Given the description of an element on the screen output the (x, y) to click on. 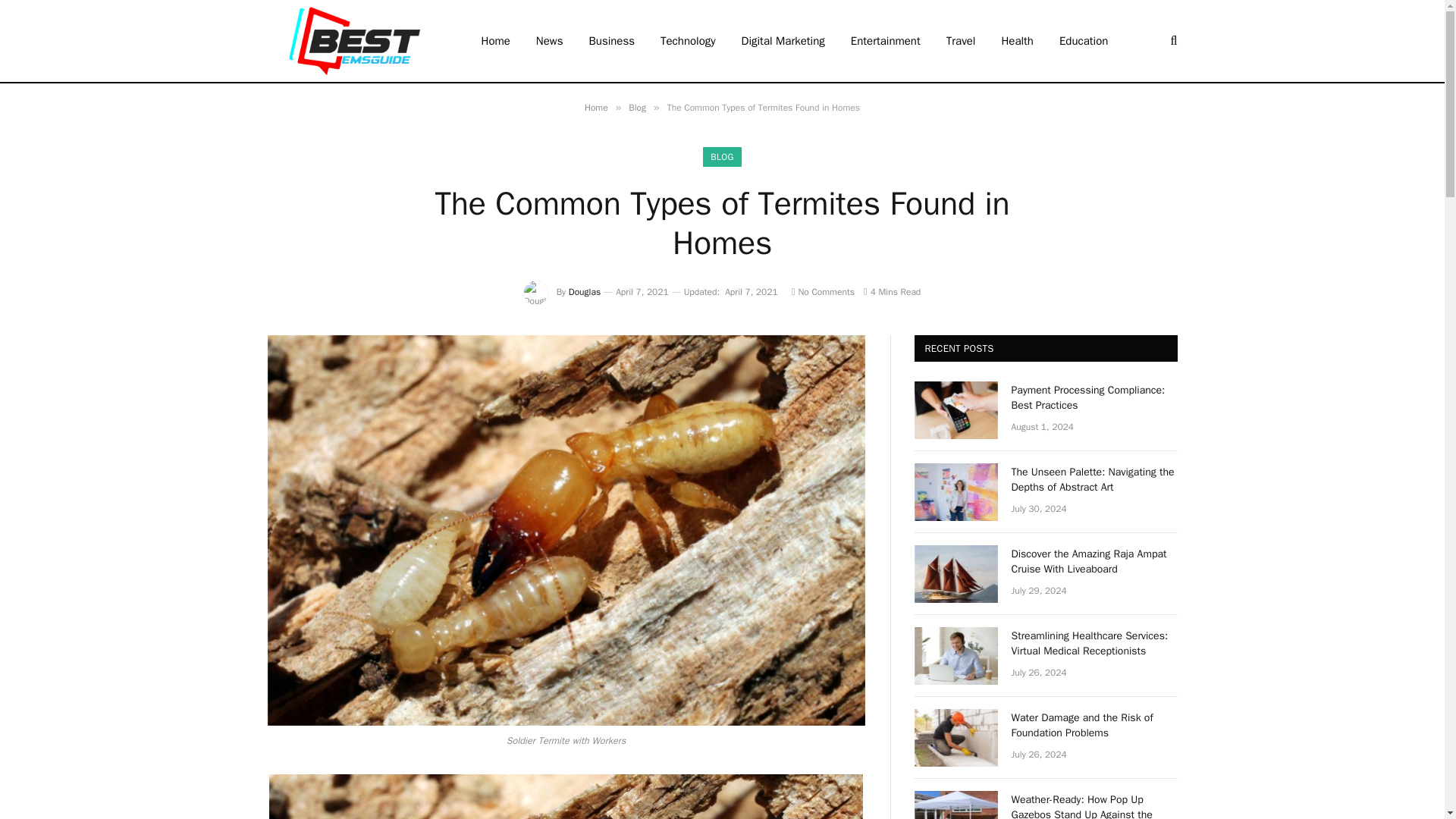
Discover the Amazing Raja Ampat Cruise With Liveaboard (955, 573)
Blog (637, 107)
Entertainment (885, 40)
Water Damage and the Risk of Foundation Problems (955, 737)
Douglas (584, 291)
Bestemsguide (353, 41)
Payment Processing Compliance: Best Practices (955, 409)
